Given the description of an element on the screen output the (x, y) to click on. 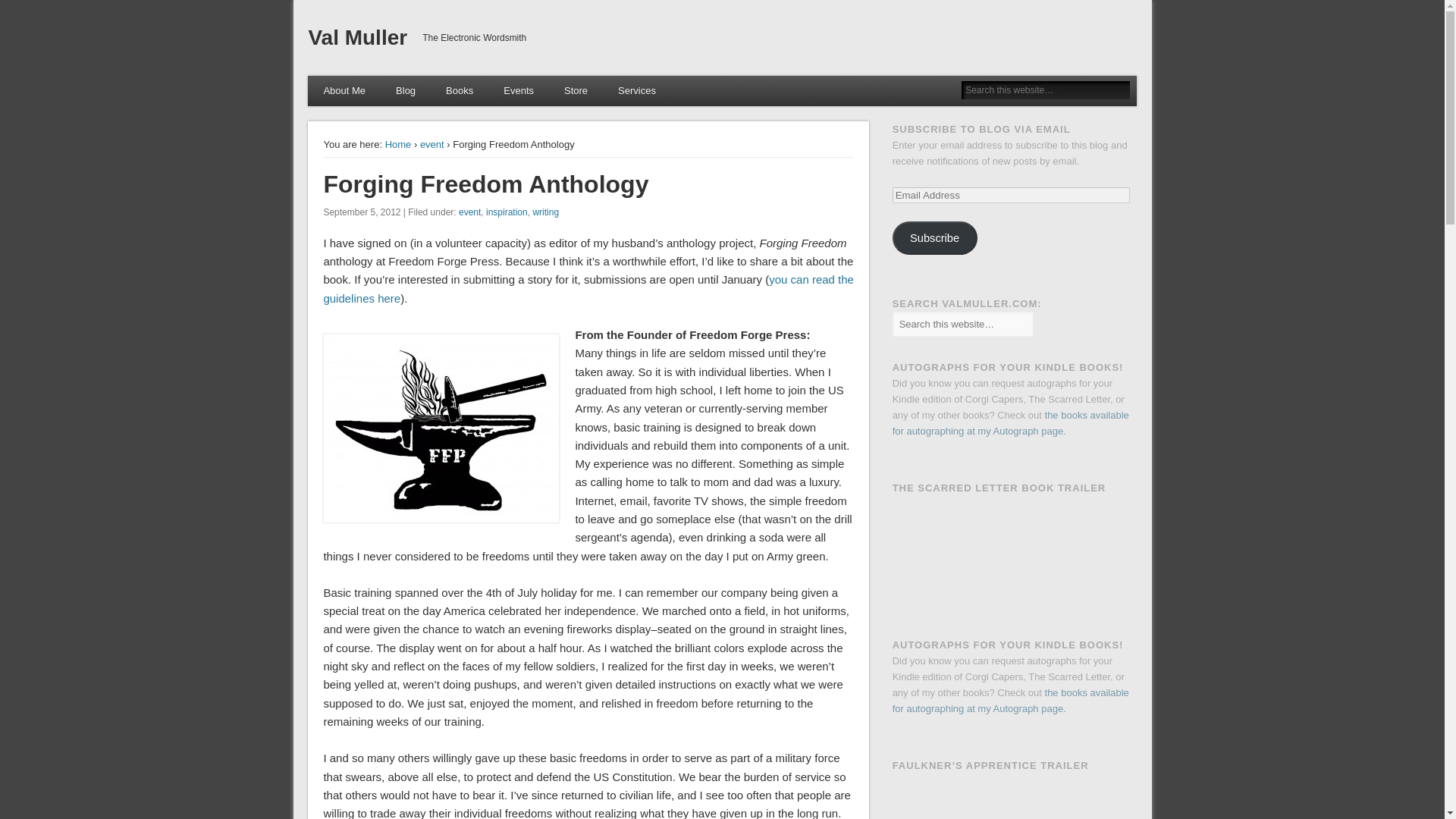
Search (11, 7)
the books available for autographing at my Autograph page. (1010, 422)
event (432, 143)
Blog (405, 91)
you can read the guidelines here (588, 287)
Subscribe (934, 237)
Events (517, 91)
writing (545, 212)
Store (575, 91)
Home (398, 143)
event (469, 212)
Services (636, 91)
Books (458, 91)
About Me (343, 91)
ffp (441, 428)
